Given the description of an element on the screen output the (x, y) to click on. 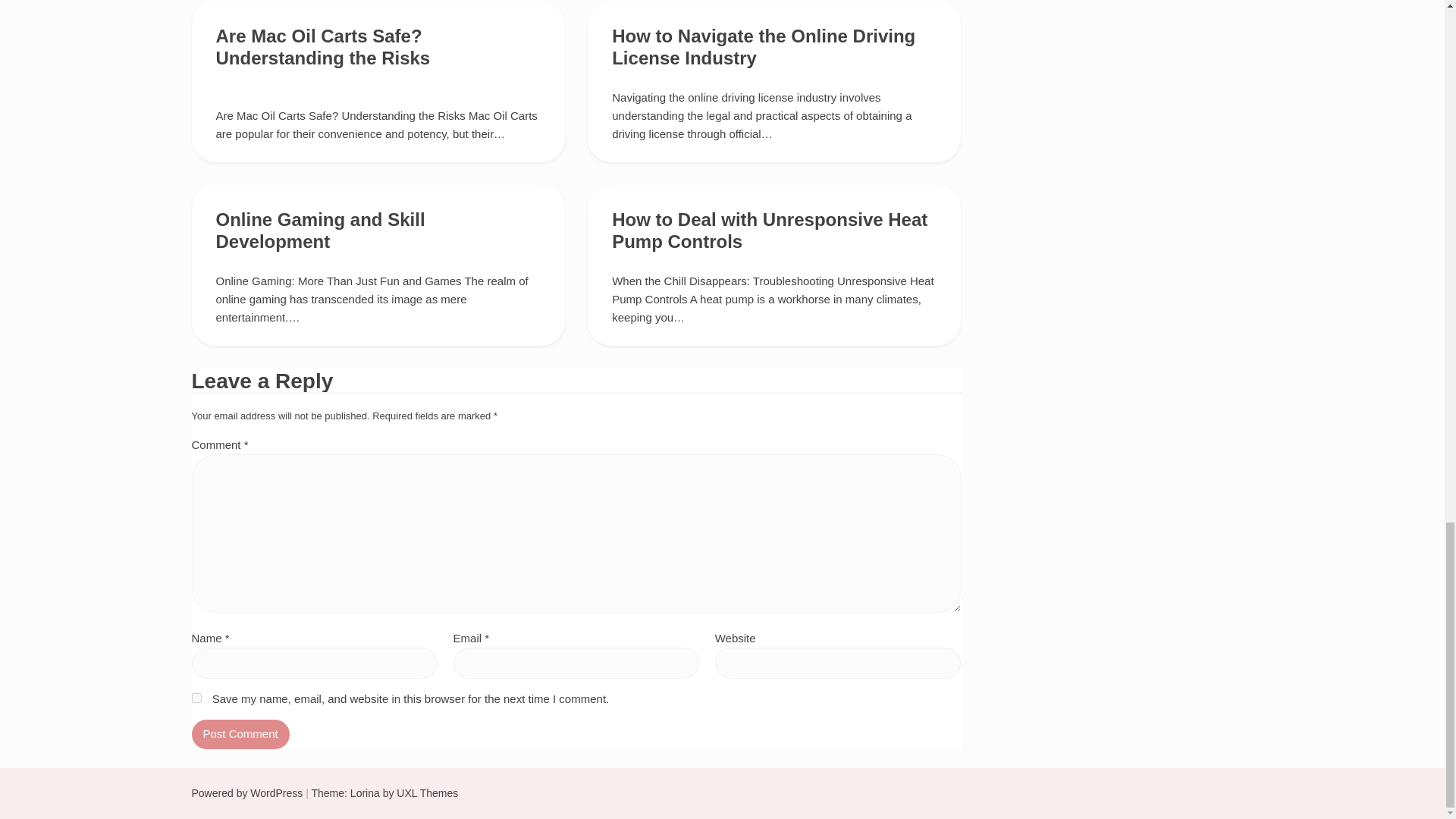
Online Gaming and Skill Development (320, 230)
Powered by WordPress (246, 793)
How to Navigate the Online Driving License Industry (763, 46)
Lorina (365, 793)
Post Comment (239, 734)
Are Mac Oil Carts Safe? Understanding the Risks (322, 46)
Post Comment (239, 734)
yes (195, 697)
How to Deal with Unresponsive Heat Pump Controls (769, 230)
